Given the description of an element on the screen output the (x, y) to click on. 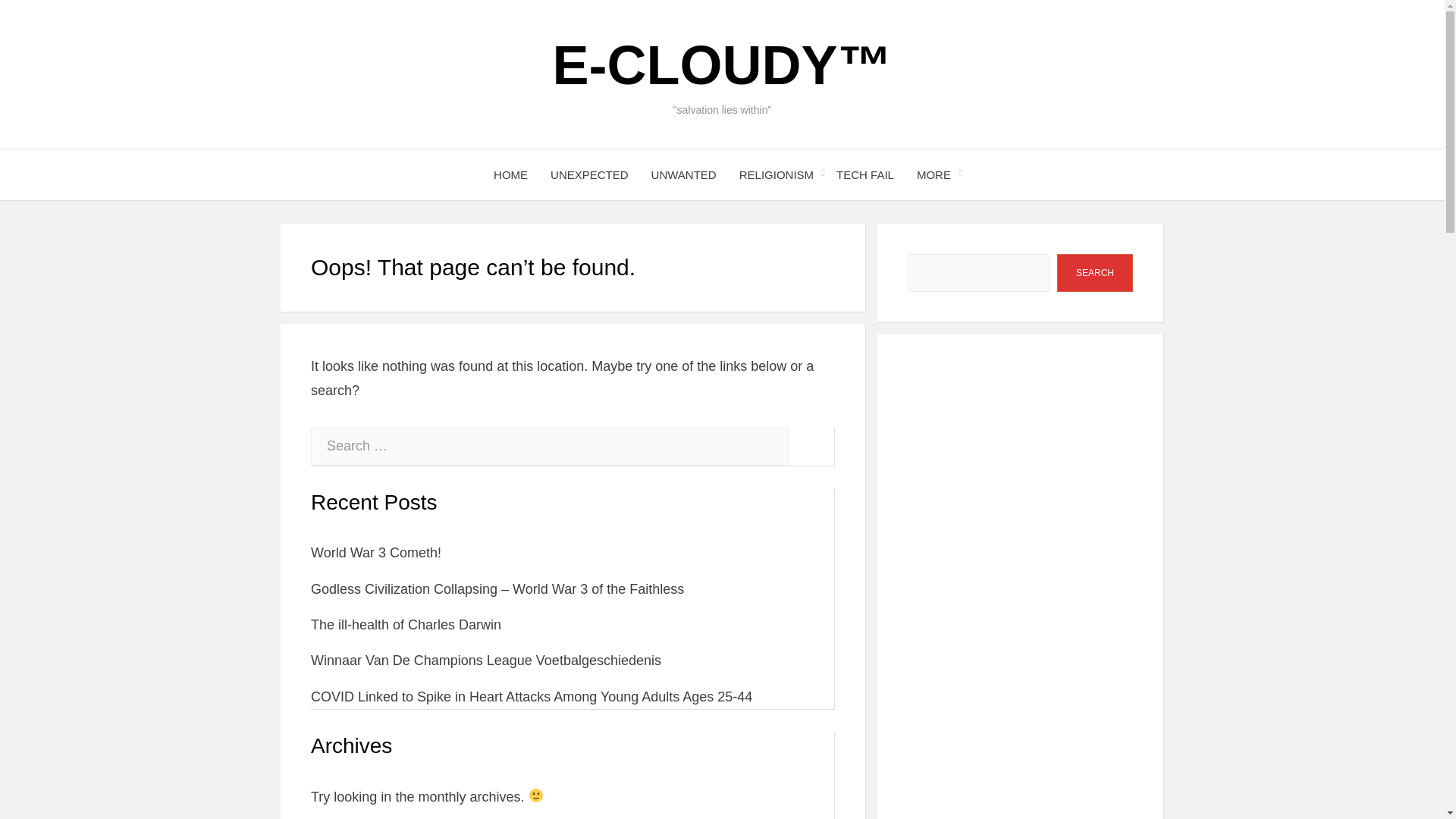
UNWANTED (684, 174)
Search for: (550, 446)
RELIGIONISM (776, 174)
HOME (509, 174)
World War 3 Cometh! (376, 552)
MORE (933, 174)
The ill-health of Charles Darwin (405, 624)
UNEXPECTED (589, 174)
Winnaar Van De Champions League Voetbalgeschiedenis (486, 660)
TECH FAIL (865, 174)
